Given the description of an element on the screen output the (x, y) to click on. 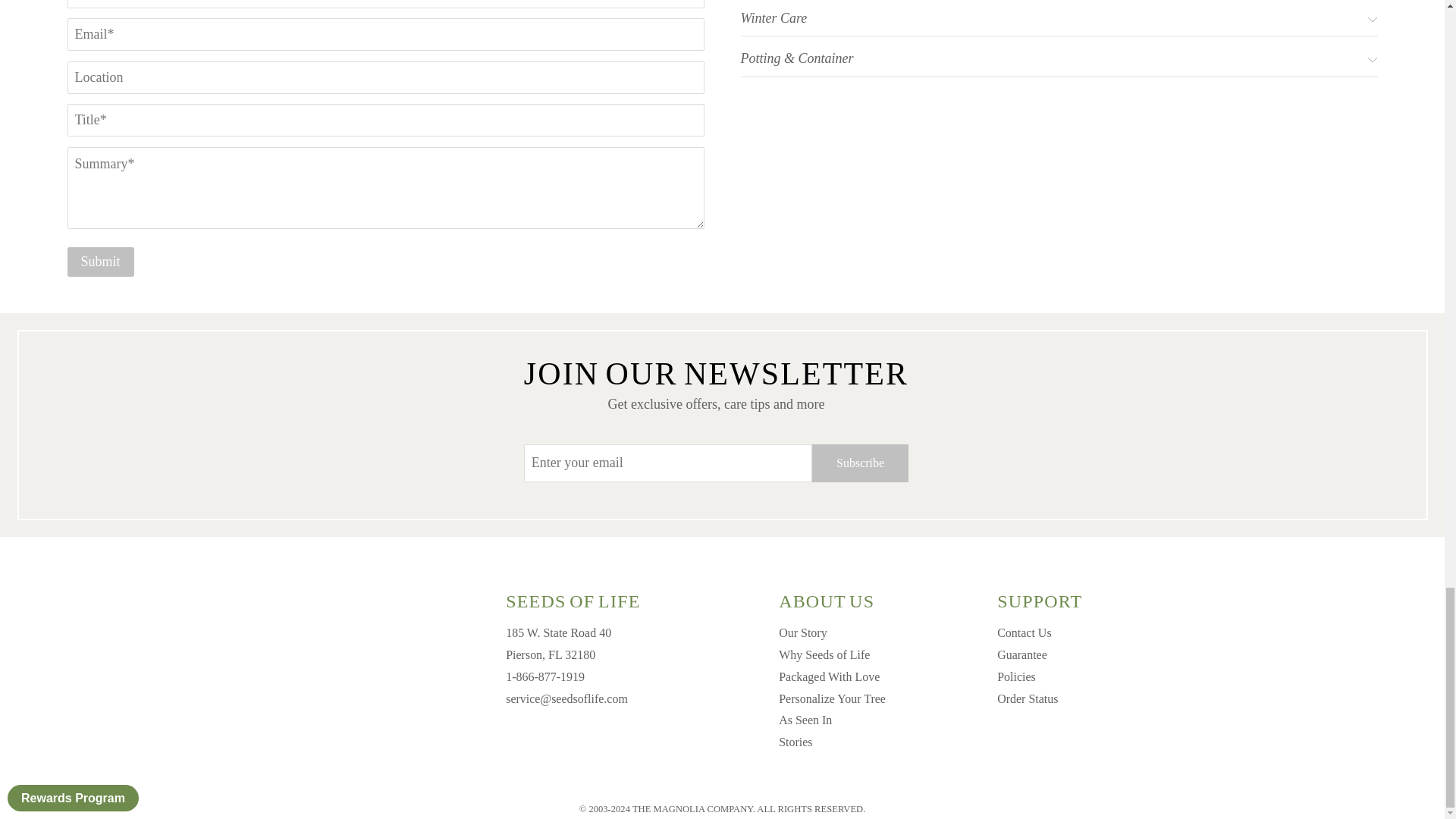
Subscribe (860, 463)
Subscribe (860, 463)
Submit (99, 261)
